Given the description of an element on the screen output the (x, y) to click on. 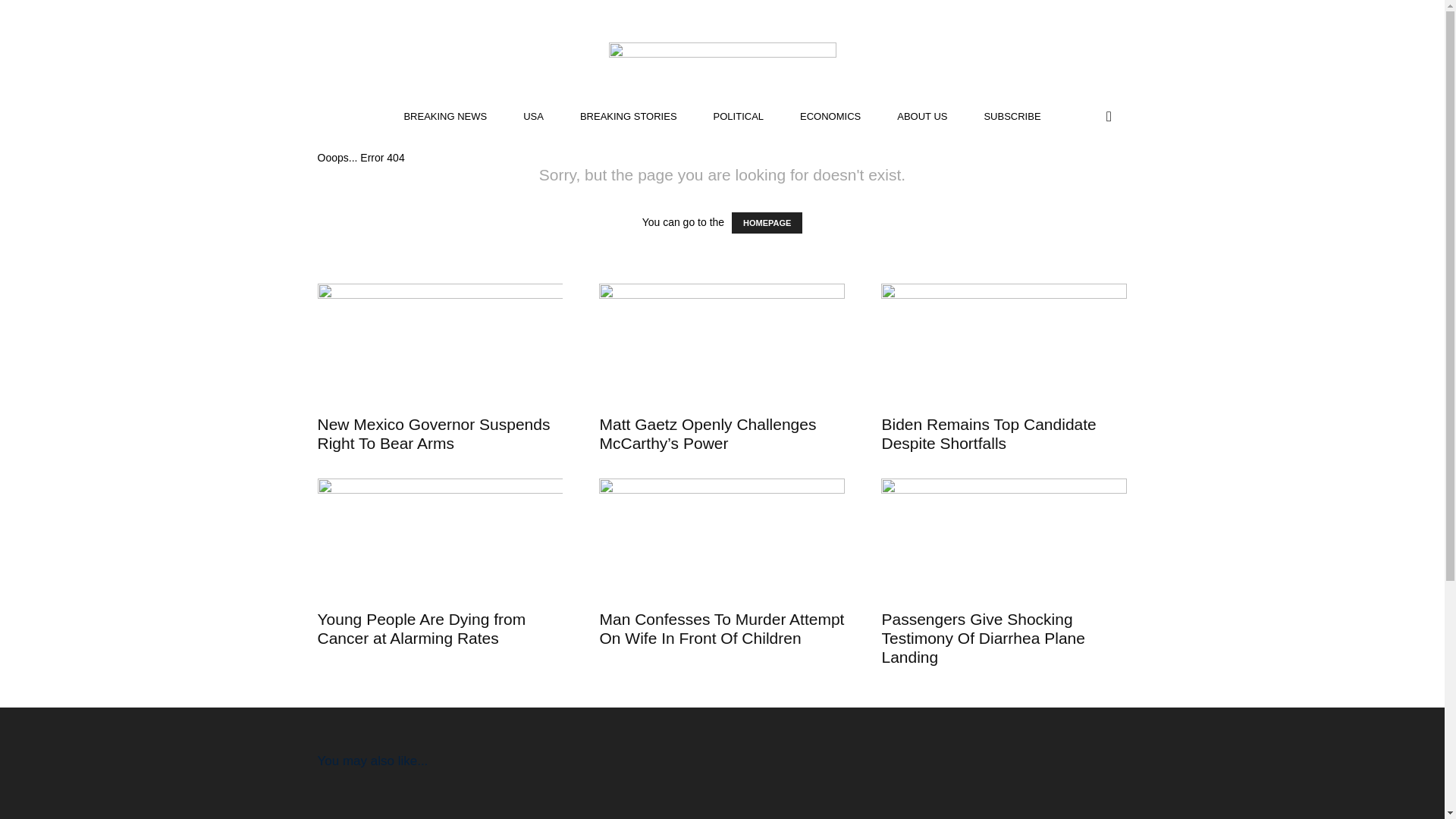
USA (533, 116)
BREAKING NEWS (445, 116)
New Mexico Governor Suspends Right To Bear Arms (433, 433)
Young People Are Dying from Cancer at Alarming Rates (439, 538)
Search (1077, 177)
Passengers Give Shocking Testimony Of Diarrhea Plane Landing (1003, 538)
Young People Are Dying from Cancer at Alarming Rates (421, 628)
New Mexico Governor Suspends Right To Bear Arms (433, 433)
POLITICAL (738, 116)
Man Confesses To Murder Attempt On Wife In Front Of Children (721, 628)
